Given the description of an element on the screen output the (x, y) to click on. 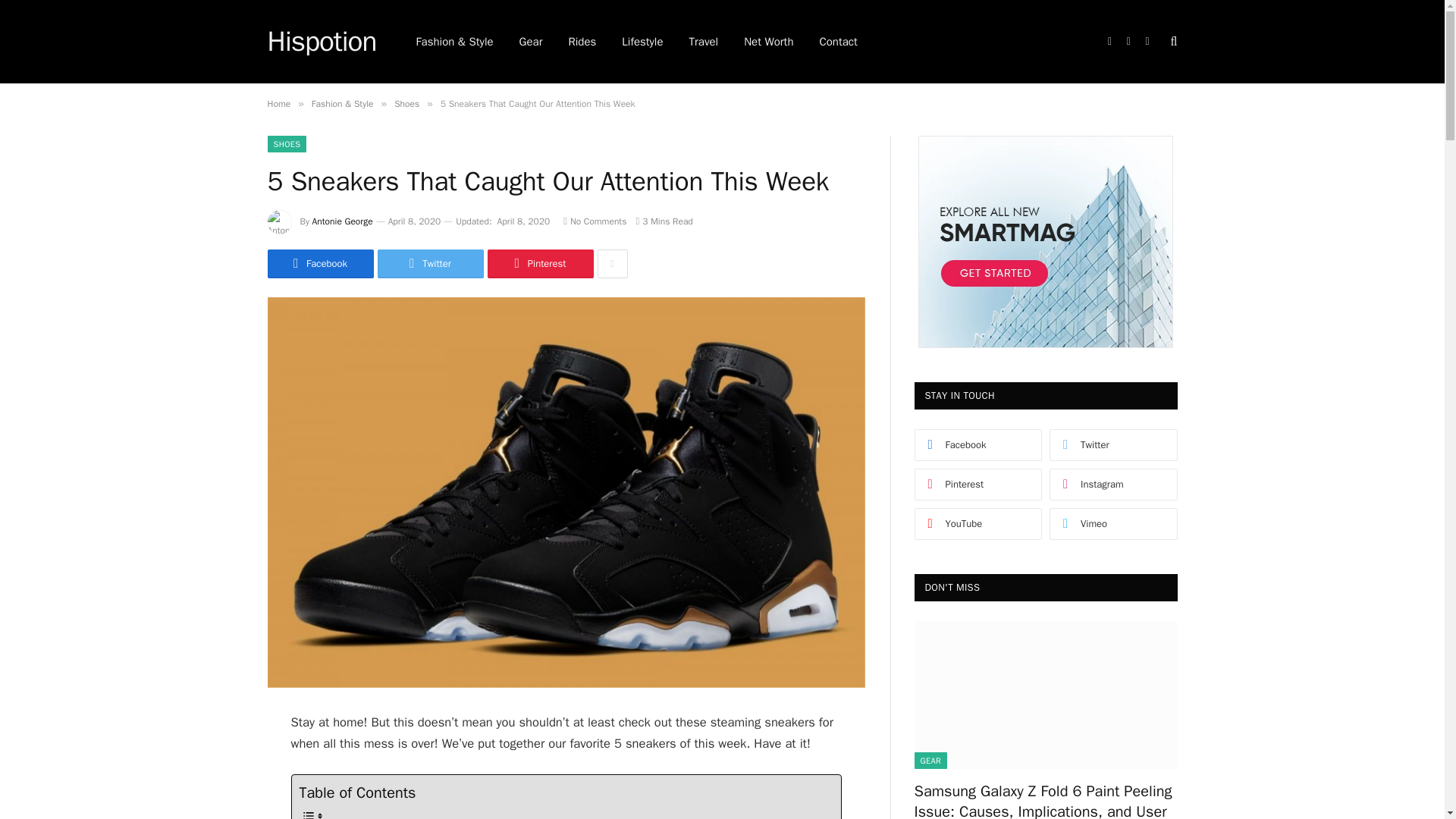
Share on Facebook (319, 263)
Facebook (319, 263)
Hispotion (320, 41)
Hispotion (320, 41)
Share on Pinterest (539, 263)
Twitter (430, 263)
Shoes (406, 103)
Home (277, 103)
No Comments (594, 221)
Posts by Antonie George (342, 221)
